Given the description of an element on the screen output the (x, y) to click on. 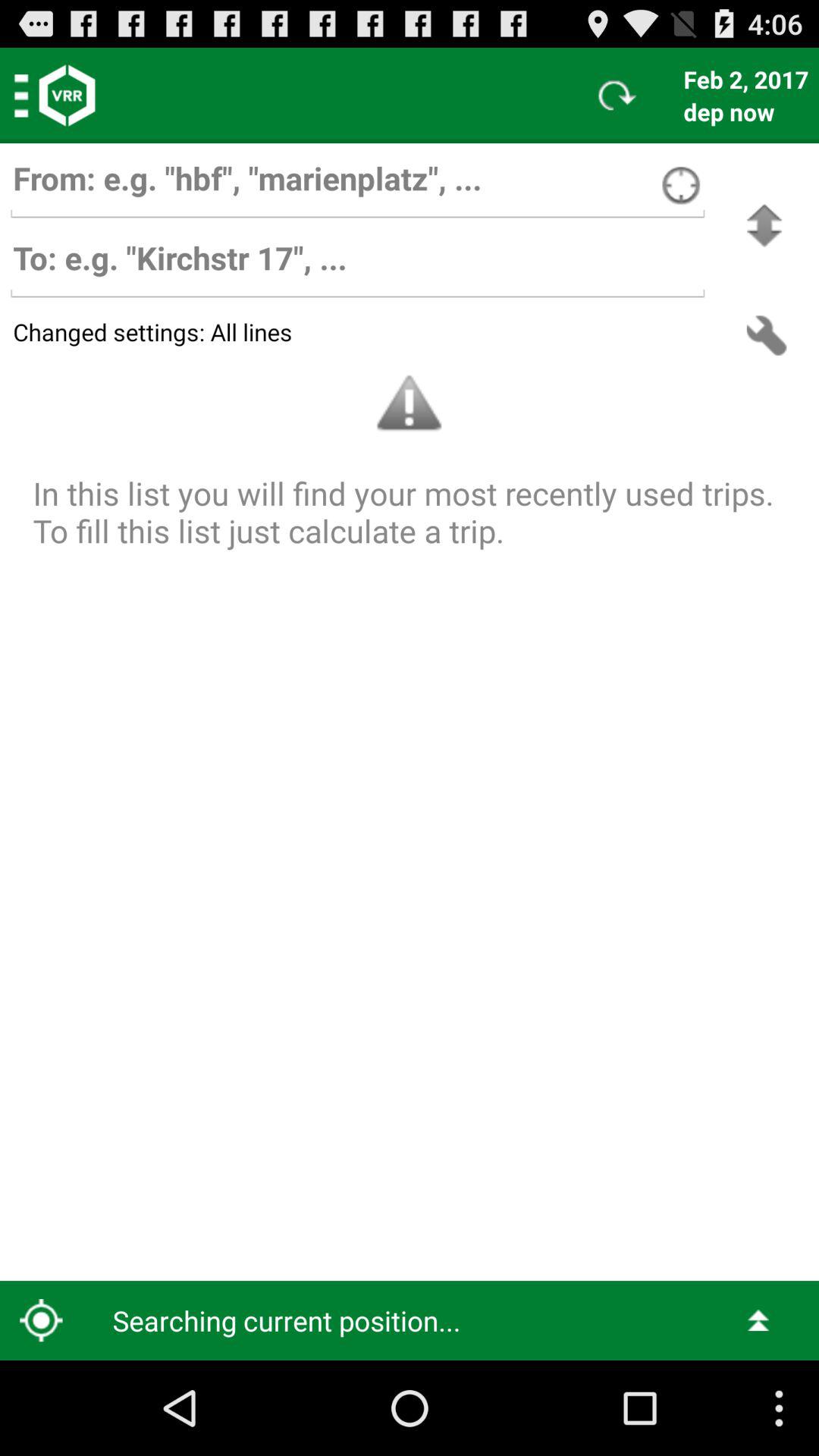
click the app above the changed settings all app (357, 265)
